Given the description of an element on the screen output the (x, y) to click on. 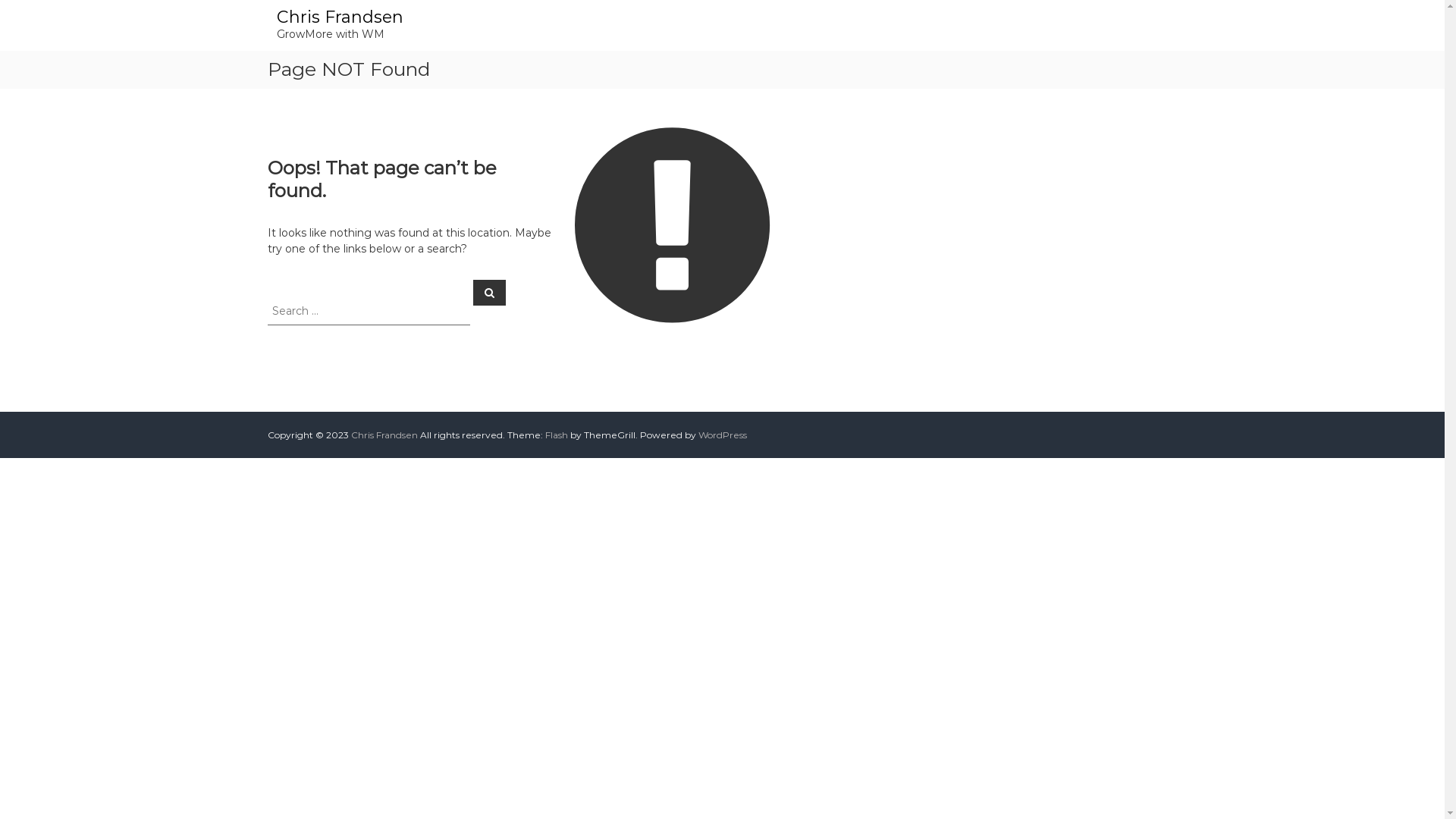
Chris Frandsen Element type: text (383, 434)
Chris Frandsen Element type: text (339, 16)
Search Element type: text (489, 291)
WordPress Element type: text (721, 434)
Flash Element type: text (555, 434)
